Given the description of an element on the screen output the (x, y) to click on. 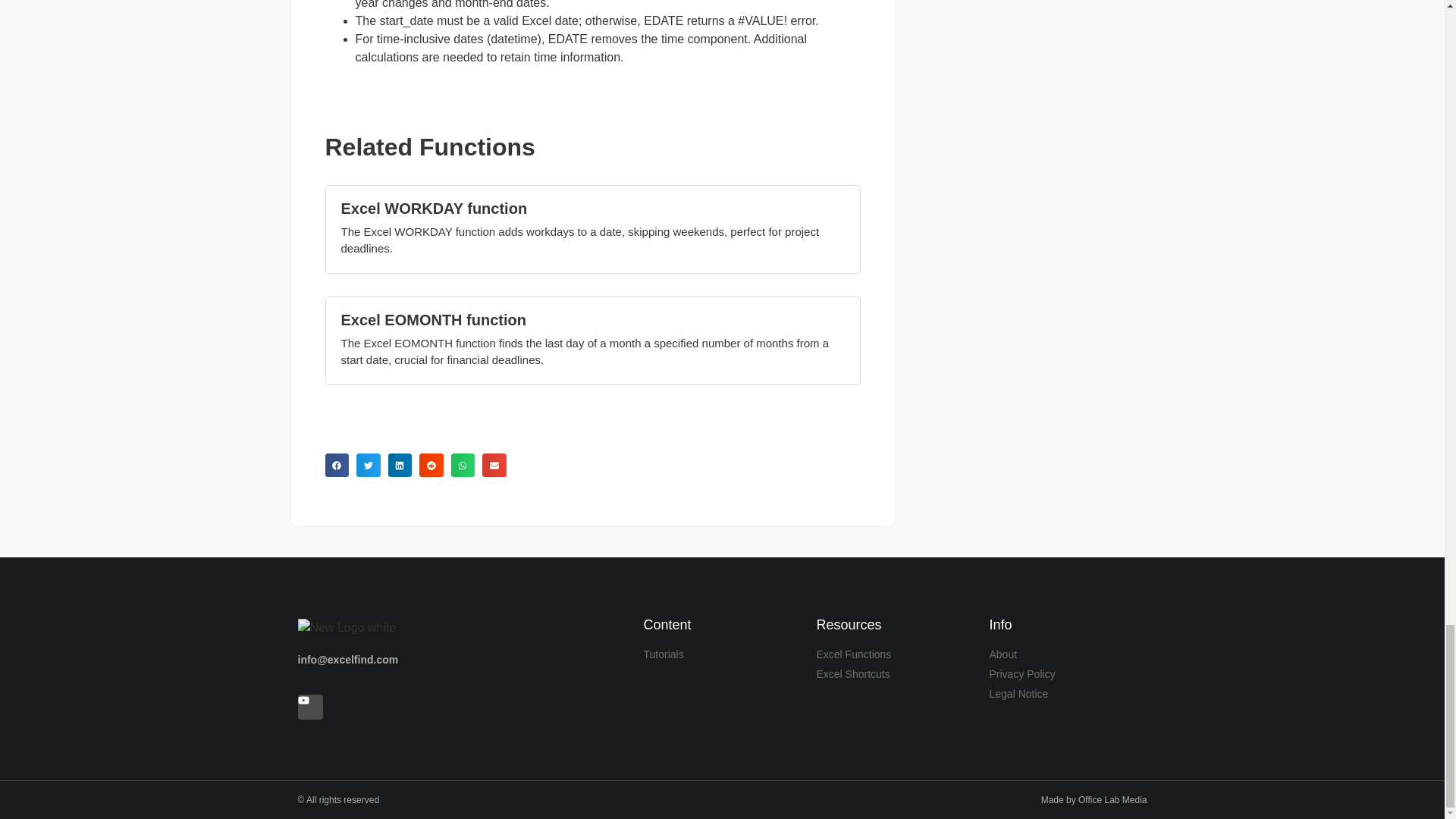
Tutorials (721, 654)
Excel Shortcuts (894, 674)
New Logo white (346, 628)
Excel Functions (894, 654)
Privacy Policy (1067, 674)
Legal Notice (1067, 693)
About (1067, 654)
